Given the description of an element on the screen output the (x, y) to click on. 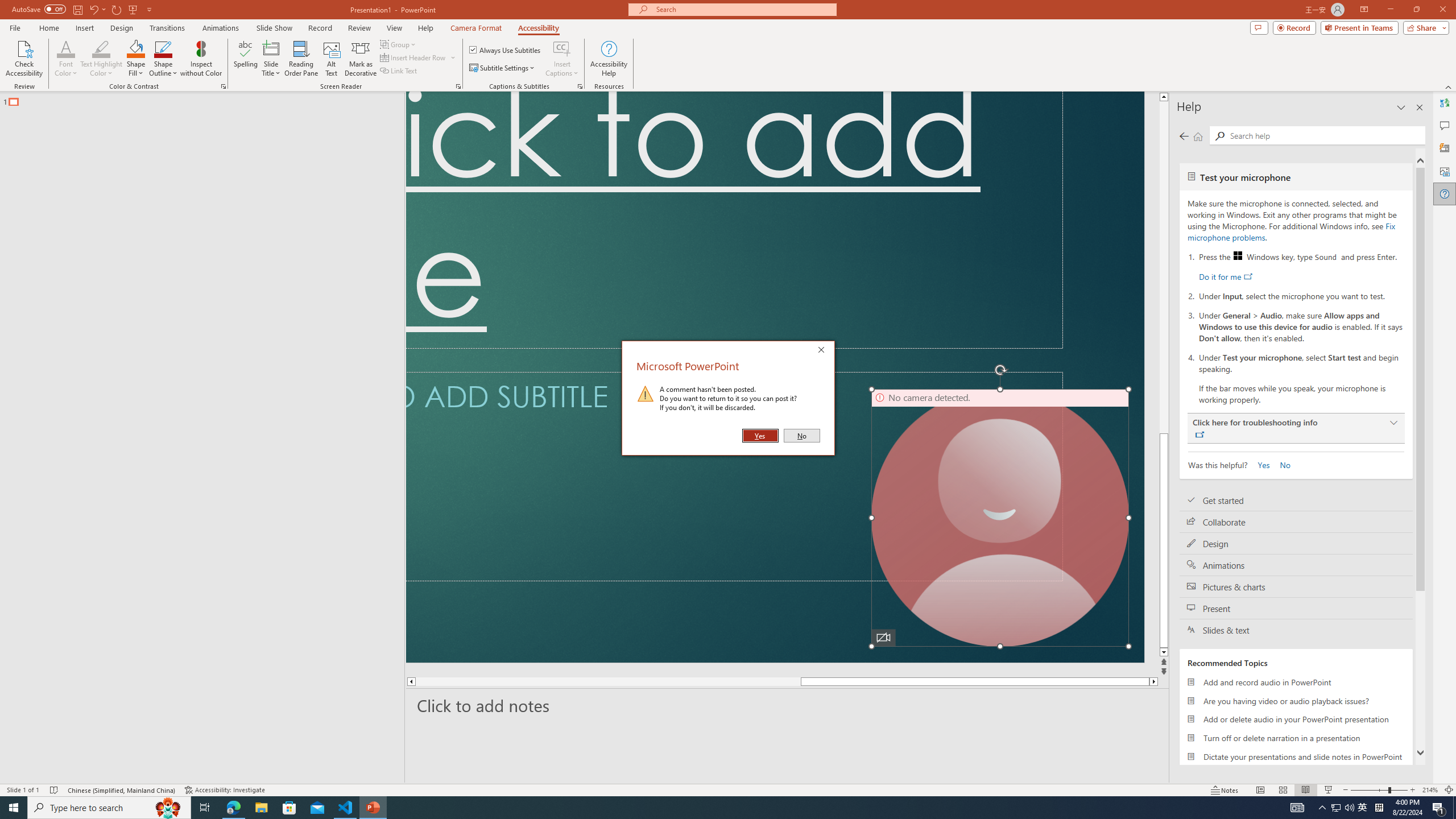
Insert Header Row (418, 56)
Insert Header Row (413, 56)
No (1280, 464)
